Given the description of an element on the screen output the (x, y) to click on. 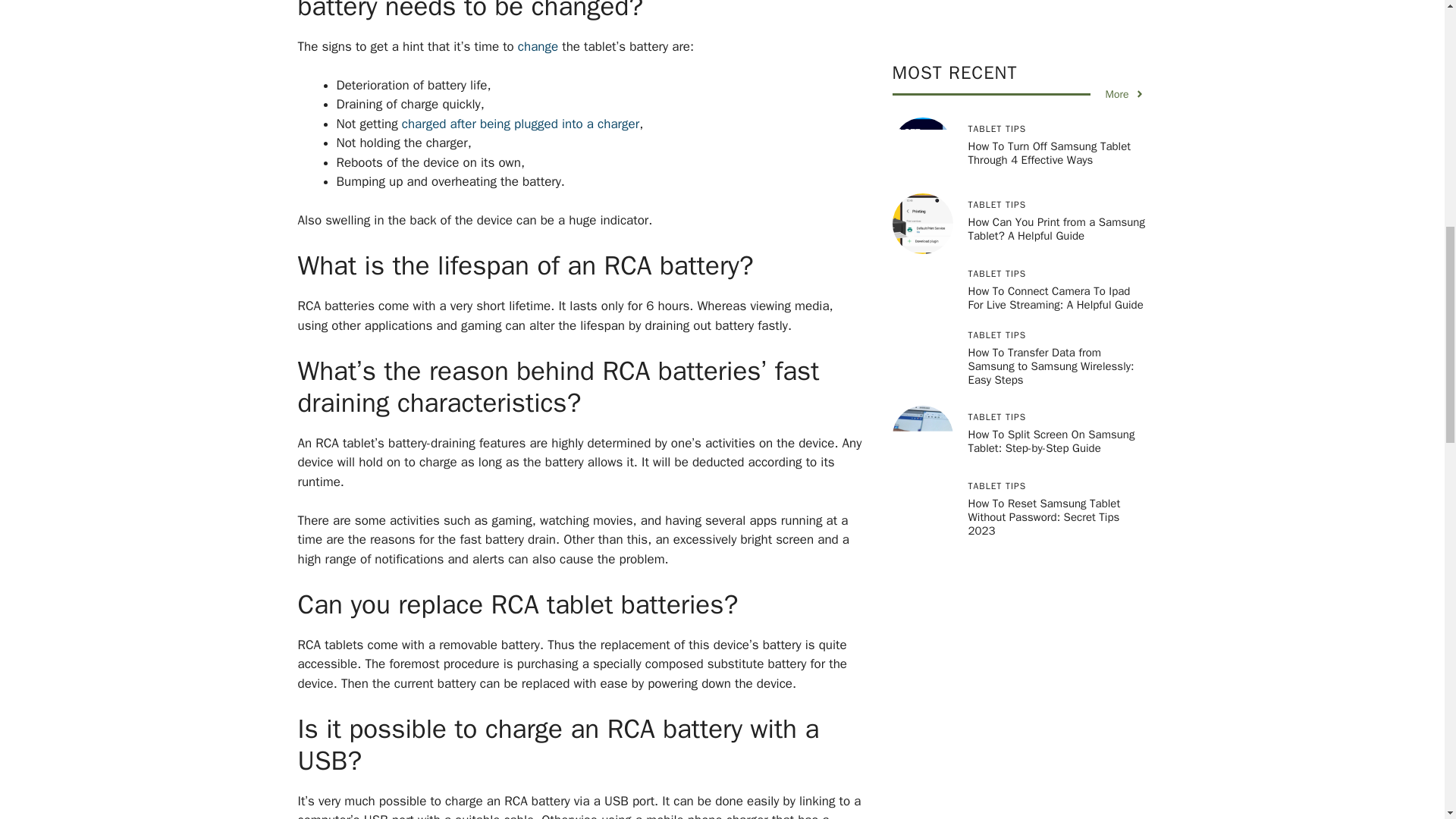
charged after being plugged into a charger (520, 123)
change (537, 45)
How To Split Screen On Samsung Tablet: Step-by-Step Guide (1051, 7)
